Given the description of an element on the screen output the (x, y) to click on. 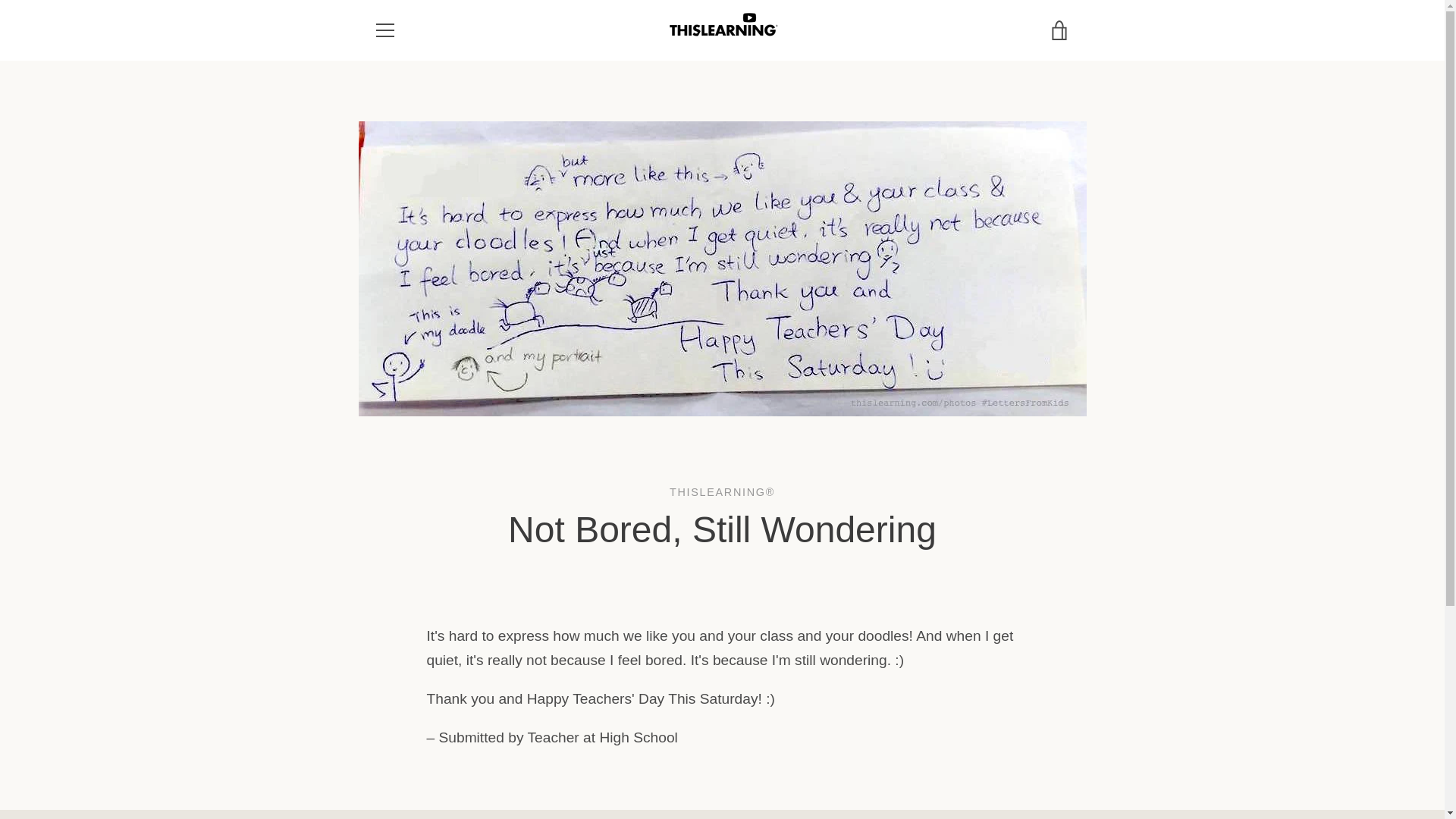
VIEW CART (1059, 30)
Apple Pay (953, 754)
Visa (1057, 778)
Shop Pay (988, 778)
PayPal (953, 778)
Discover (1022, 754)
Google Pay (883, 778)
Venmo (1022, 778)
Amazon (883, 754)
